Given the description of an element on the screen output the (x, y) to click on. 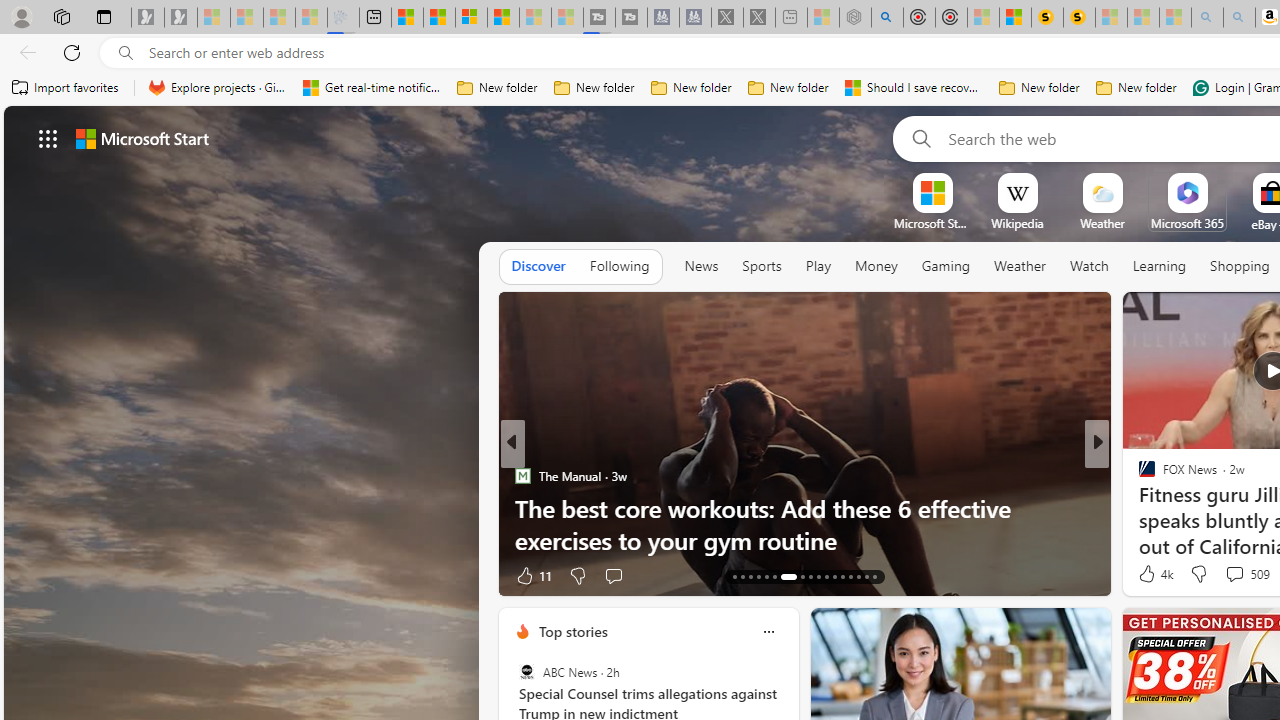
AutomationID: tab-17 (765, 576)
